Given the description of an element on the screen output the (x, y) to click on. 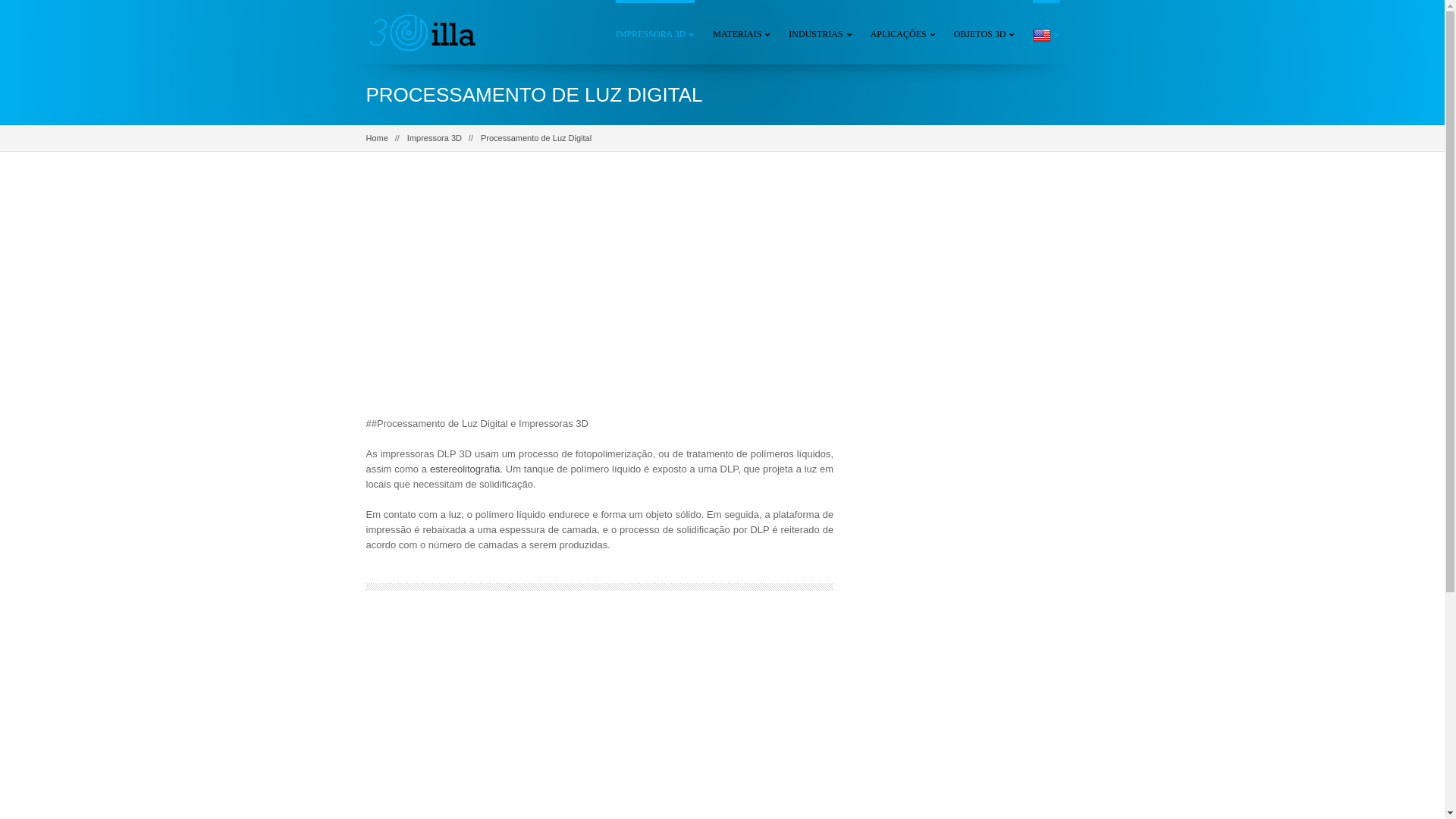
Processamento de Luz Digital Element type: text (535, 137)
Home Element type: text (376, 137)
Advertisement Element type: hover (599, 294)
MATERIAIS Element type: text (741, 32)
INDUSTRIAS Element type: text (819, 32)
Advertisement Element type: hover (967, 415)
estereolitografia Element type: text (464, 468)
IMPRESSORA 3D Element type: text (654, 32)
Impressora 3D Element type: text (434, 137)
OBJETOS 3D Element type: text (984, 32)
